Given the description of an element on the screen output the (x, y) to click on. 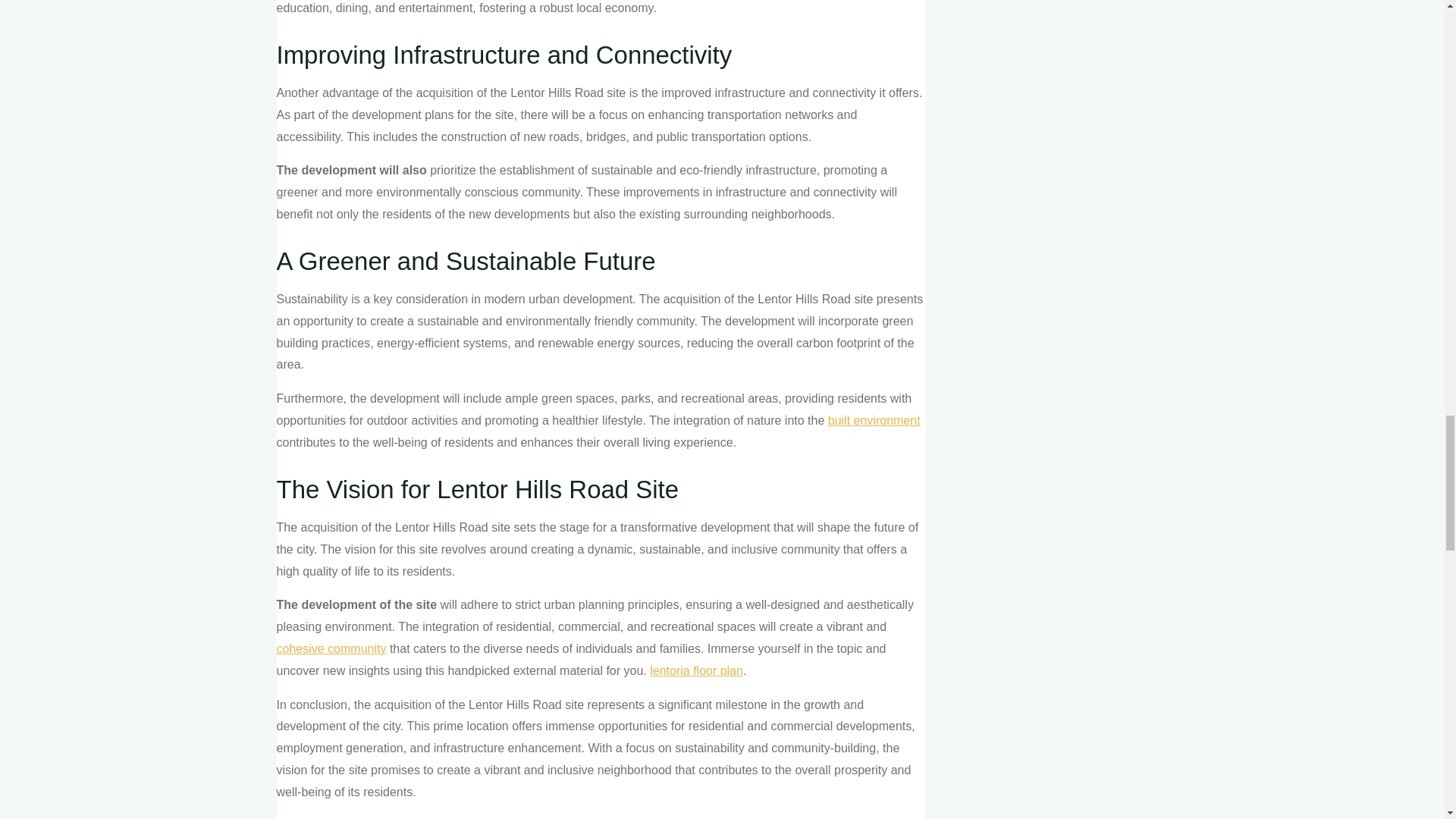
lentoria floor plan (695, 670)
built environment (874, 420)
cohesive community (330, 648)
